Given the description of an element on the screen output the (x, y) to click on. 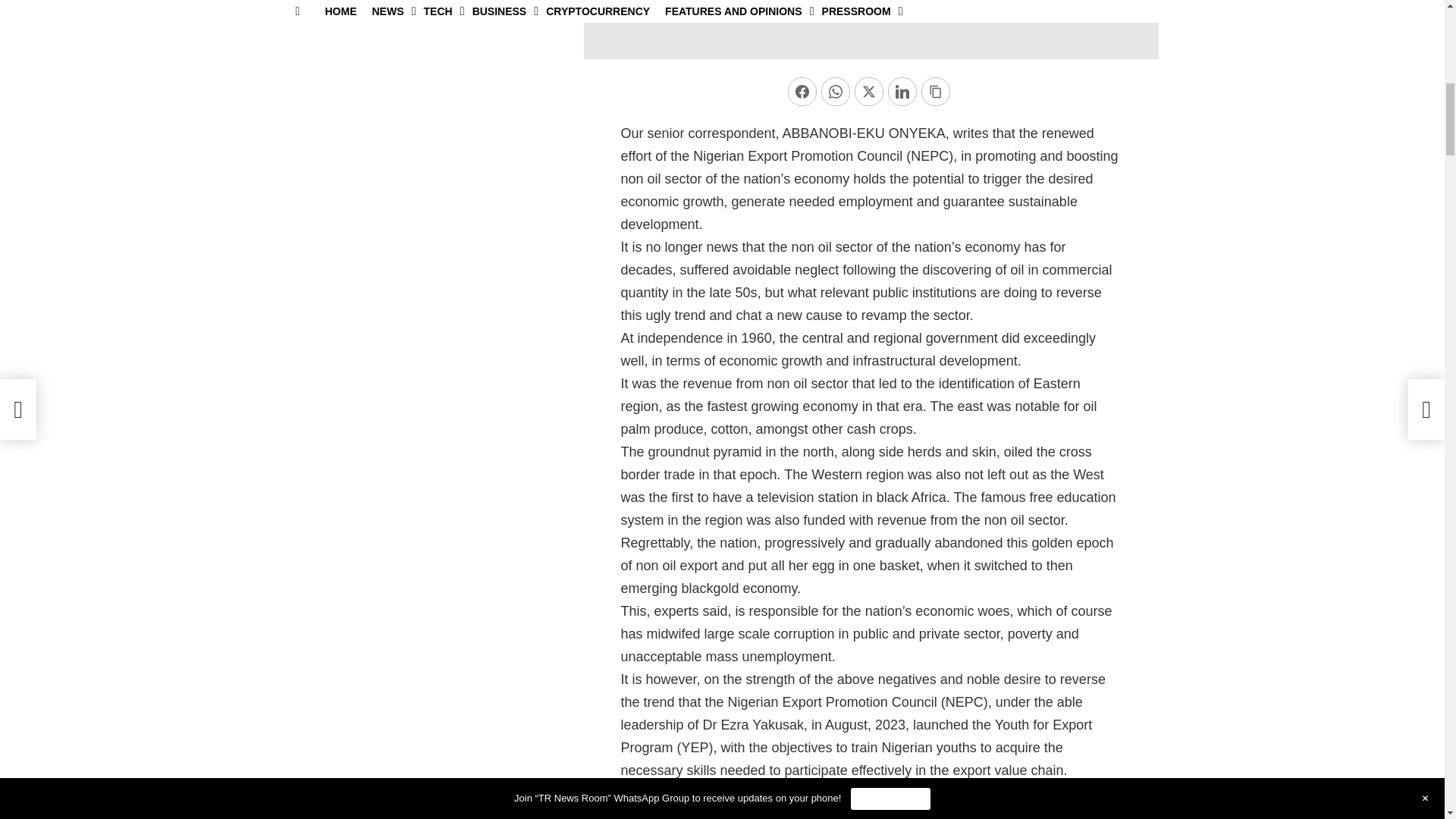
Share on Share on LinkedIn (902, 91)
Share on Share on Facebook (801, 91)
Share on Share on WhatsApp (835, 91)
Share on Copy Link (935, 91)
Share on Share on Twitter (868, 91)
